Given the description of an element on the screen output the (x, y) to click on. 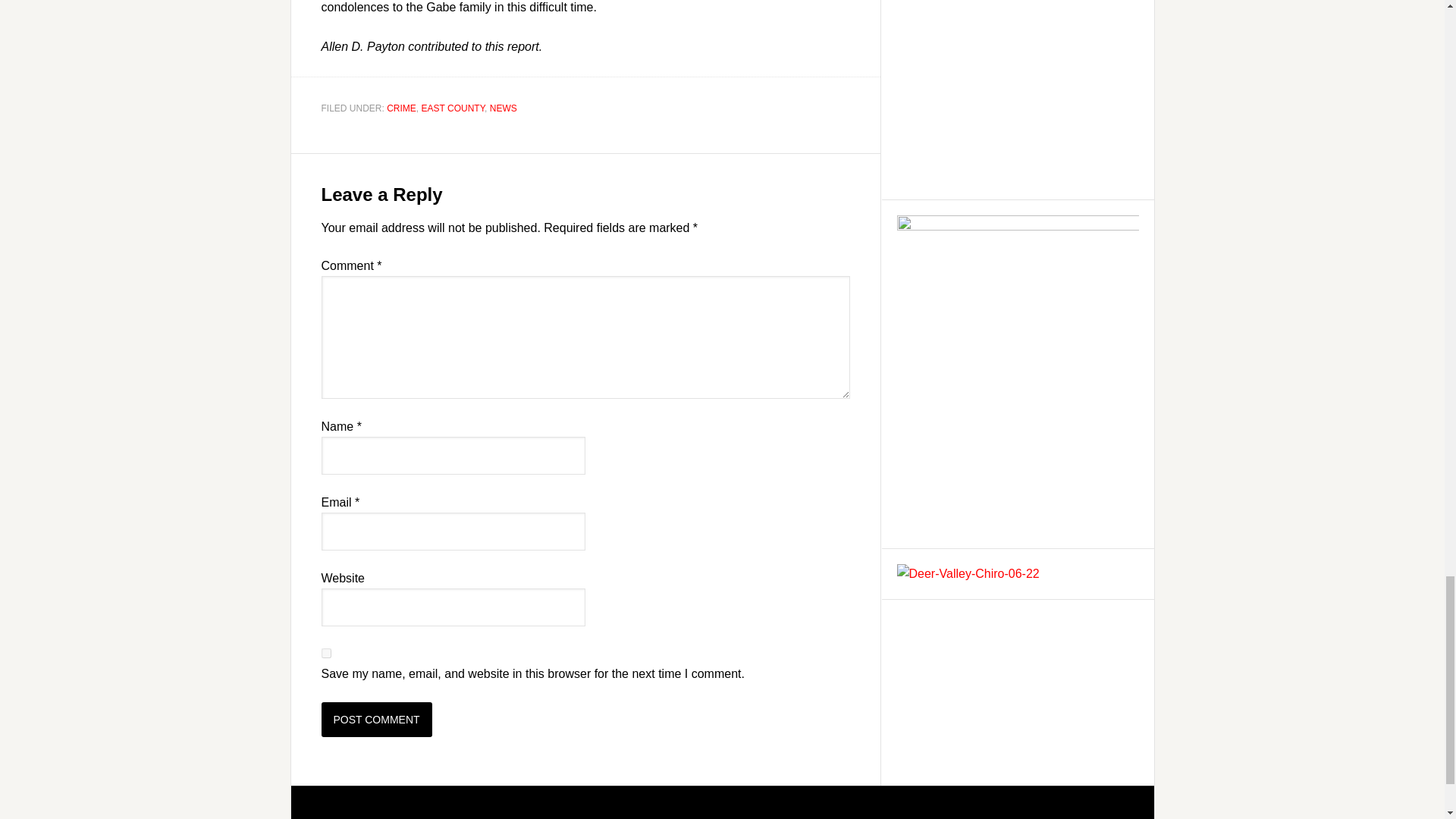
Post Comment (376, 719)
yes (326, 652)
CRIME (401, 108)
EAST COUNTY (453, 108)
Post Comment (376, 719)
NEWS (502, 108)
